Given the description of an element on the screen output the (x, y) to click on. 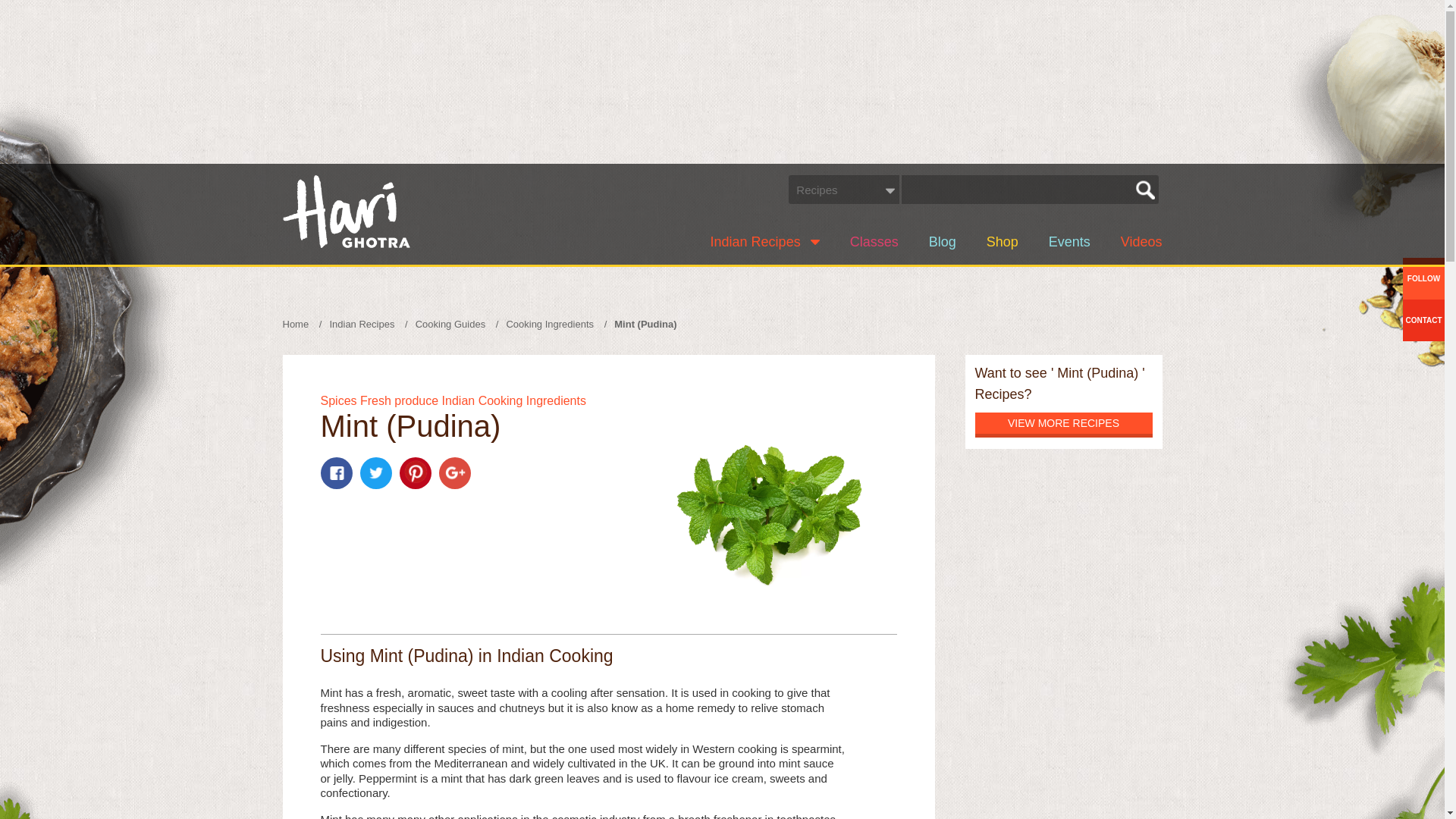
Search (1144, 189)
Hari Ghotra (345, 211)
Hari Ghotra (345, 211)
Events (1069, 243)
Videos (1141, 243)
Indian Recipes (764, 243)
Classes (874, 243)
Search (1144, 189)
Search (1144, 189)
Shop (1002, 243)
